Given the description of an element on the screen output the (x, y) to click on. 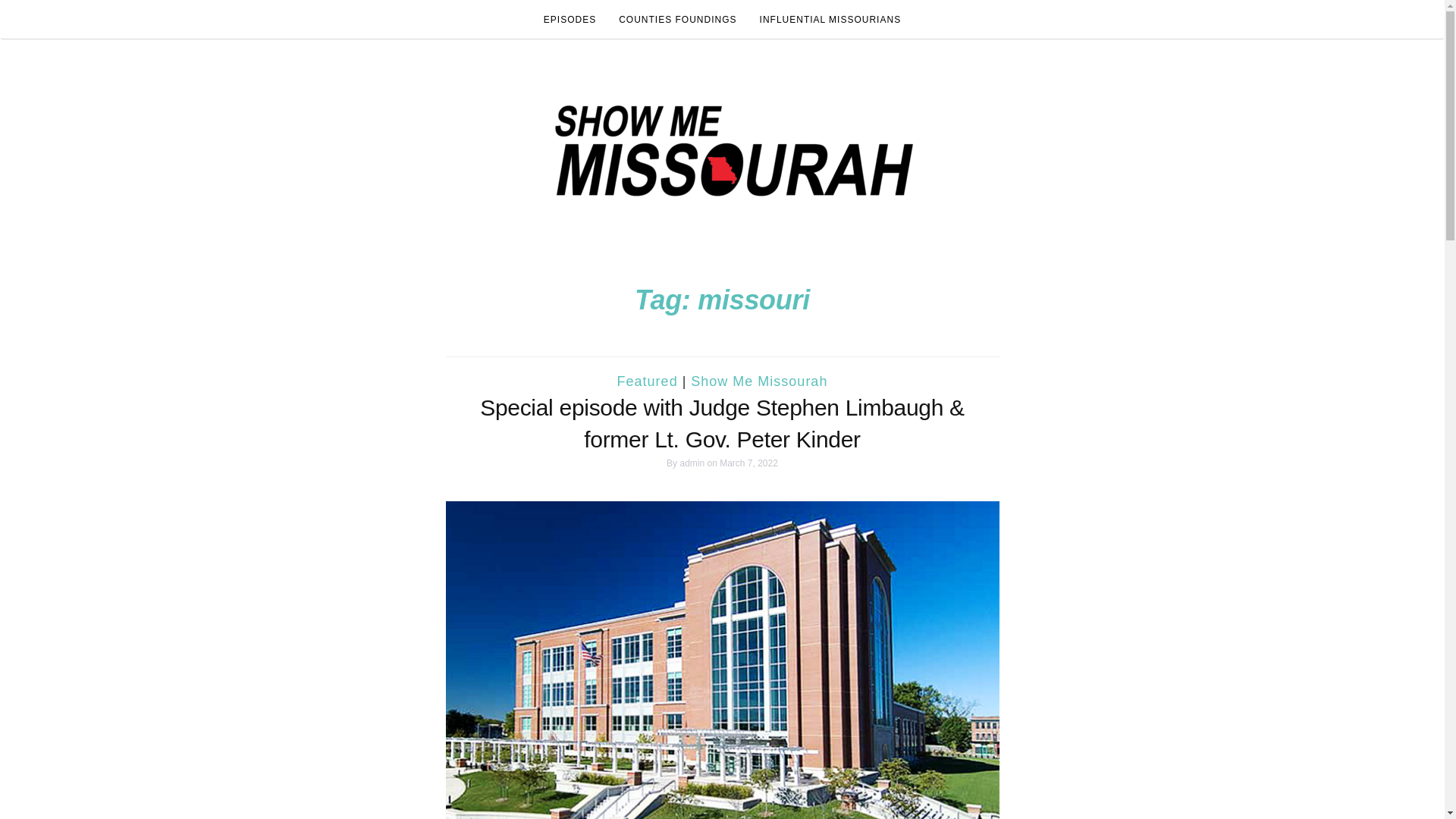
Posts by admin (691, 462)
Show Me Missourah (758, 381)
Episodes (569, 19)
INFLUENTIAL MISSOURIANS (830, 19)
EPISODES (569, 19)
admin (691, 462)
Counties Foundings (677, 19)
COUNTIES FOUNDINGS (677, 19)
Featured (647, 381)
Influential Missourians (830, 19)
